Given the description of an element on the screen output the (x, y) to click on. 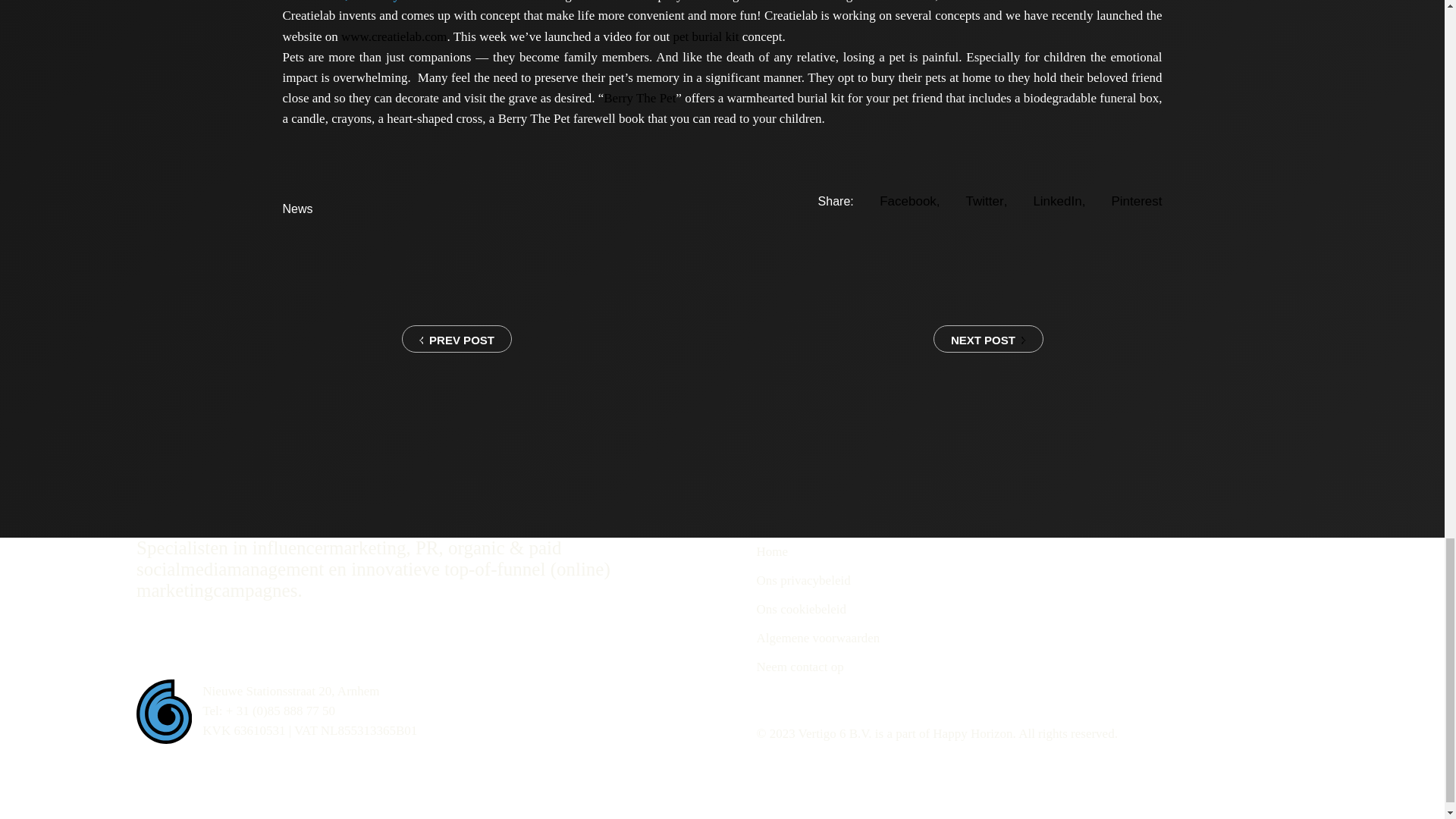
www.creatielab.com (393, 36)
Creatielab (494, 1)
Creatielab (494, 1)
www.creatielab.com (393, 36)
